Given the description of an element on the screen output the (x, y) to click on. 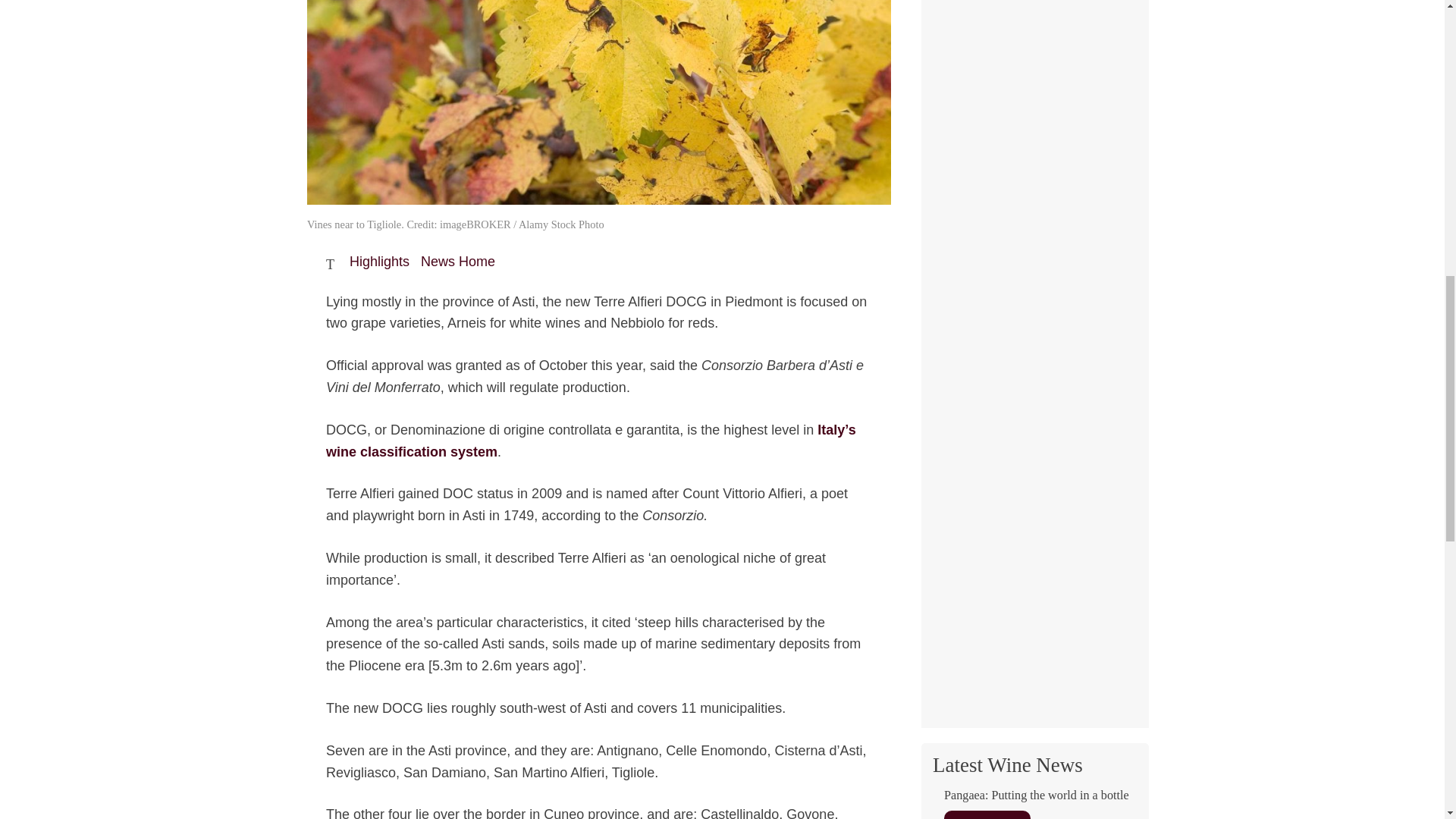
Pangaea: Putting the world in a bottle (1035, 803)
